Given the description of an element on the screen output the (x, y) to click on. 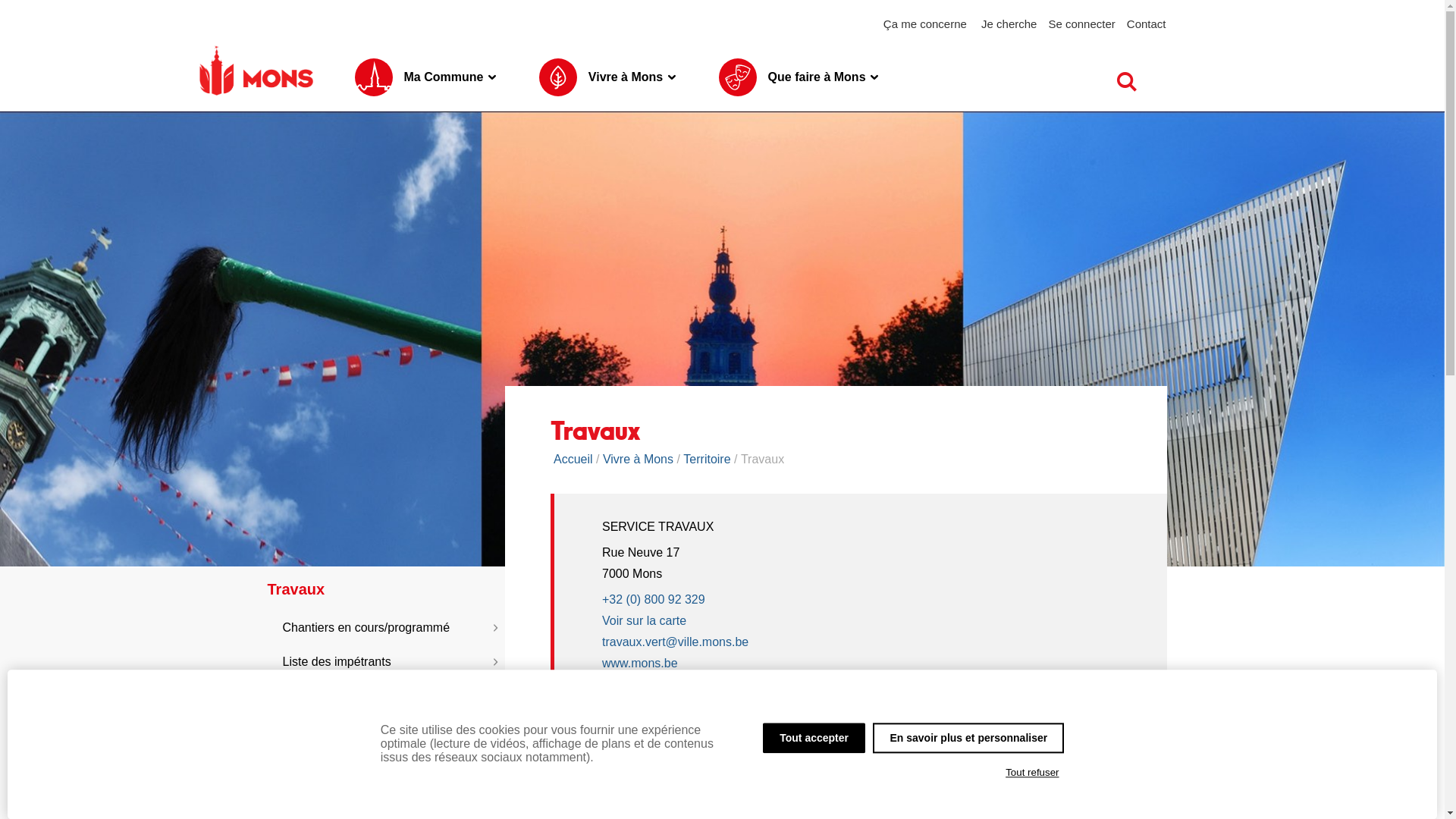
Accueil Element type: text (573, 458)
Travaux Element type: text (379, 589)
RGP et amendes administratives Element type: text (385, 691)
Je cherche Element type: text (1008, 22)
Se connecter Element type: text (1081, 22)
Tout refuser Element type: text (1032, 772)
+32 (0) 800 92 329 Element type: text (734, 599)
Contact Element type: text (1146, 22)
Aller au contenu. Element type: text (1306, 95)
En savoir plus et personnaliser Element type: text (967, 737)
Territoire Element type: text (706, 458)
travaux.vert@ville.mons.be Element type: text (675, 641)
Ville de Mons Element type: hover (255, 95)
www.mons.be Element type: text (639, 662)
Voir sur la carte Element type: text (644, 620)
Ville de Mons Element type: hover (255, 70)
Ma Commune Element type: text (424, 76)
Tout accepter Element type: text (813, 737)
